Given the description of an element on the screen output the (x, y) to click on. 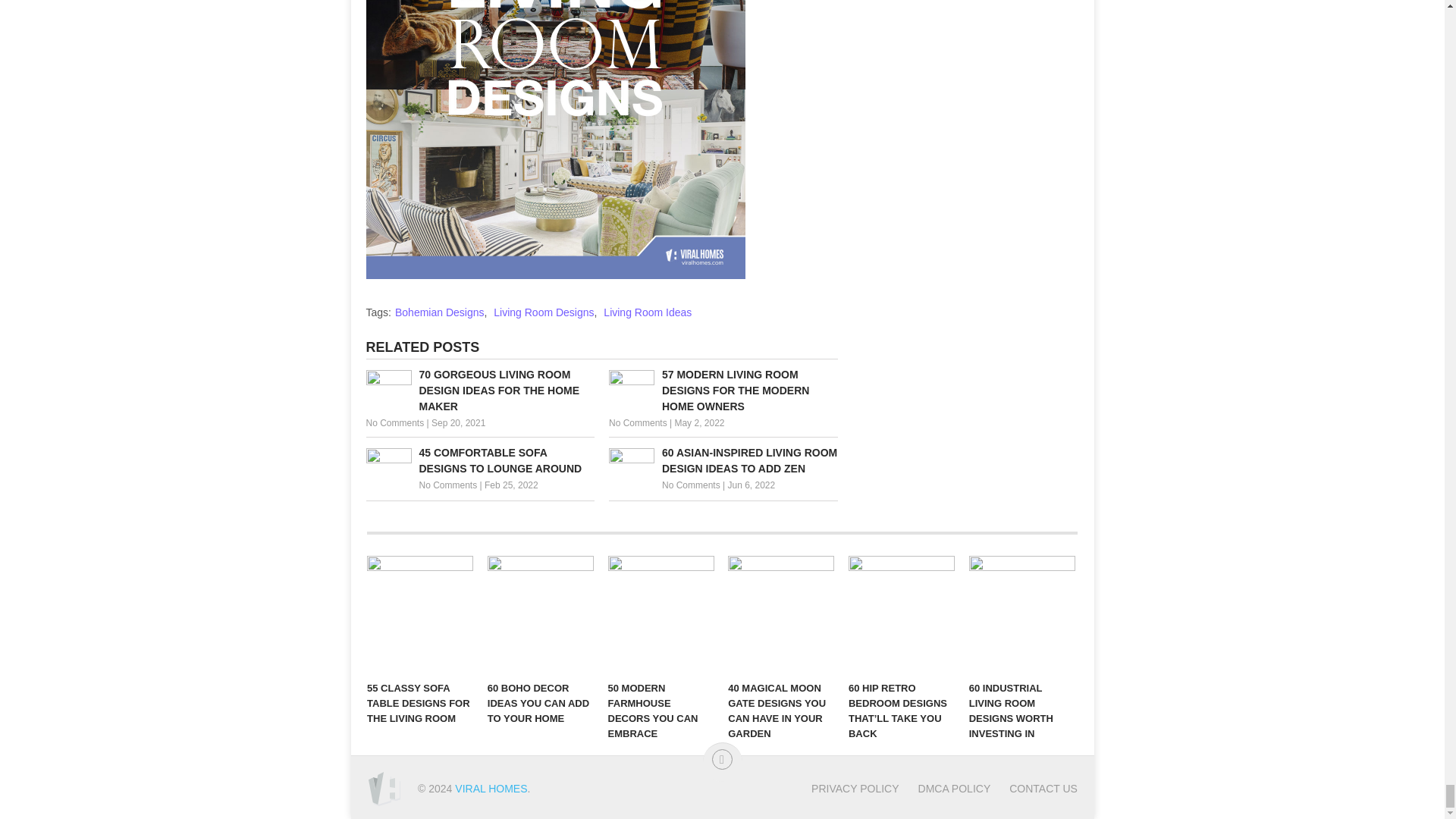
57 Modern Living Room Designs for the Modern Home Owners (723, 390)
45 Comfortable Sofa Designs to Lounge Around (479, 460)
45 COMFORTABLE SOFA DESIGNS TO LOUNGE AROUND (479, 460)
Living Room Ideas (647, 312)
70 GORGEOUS LIVING ROOM DESIGN IDEAS FOR THE HOME MAKER (479, 390)
70 Gorgeous Living Room Design Ideas for the Home Maker (479, 390)
57 MODERN LIVING ROOM DESIGNS FOR THE MODERN HOME OWNERS (723, 390)
Living Room Designs (543, 312)
No Comments (448, 484)
No Comments (637, 422)
